Given the description of an element on the screen output the (x, y) to click on. 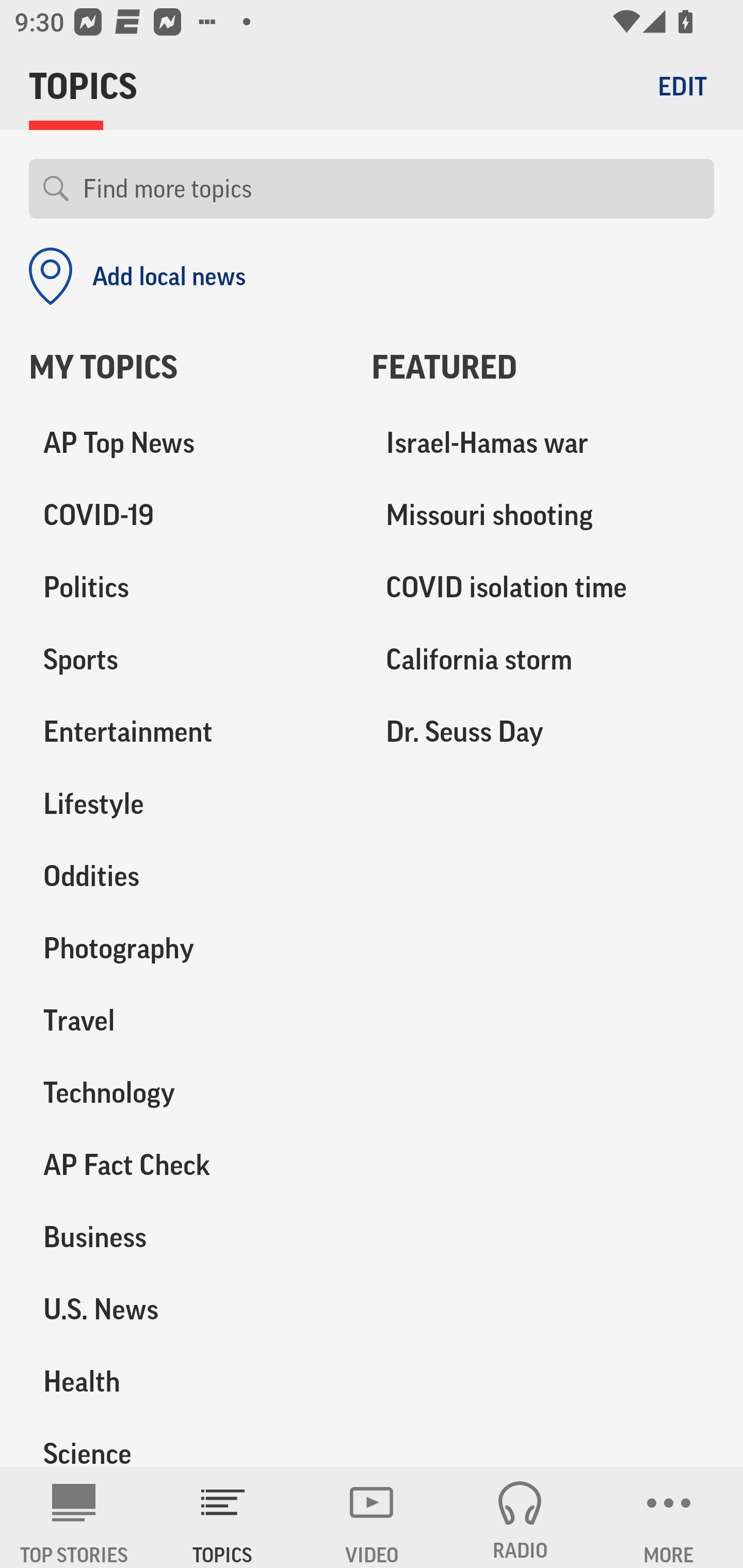
EDIT (682, 86)
Find more topics (391, 188)
Add local news (137, 276)
AP Top News (185, 443)
Israel-Hamas war (542, 443)
COVID-19 (185, 515)
Missouri shooting (542, 515)
Politics (185, 587)
COVID isolation time (542, 587)
Sports (185, 660)
California storm (542, 660)
Entertainment (185, 732)
Dr. Seuss Day (542, 732)
Lifestyle (185, 804)
Oddities (185, 876)
Photography (185, 948)
Travel (185, 1020)
Technology (185, 1092)
AP Fact Check (185, 1164)
Business (185, 1237)
U.S. News (185, 1309)
Health (185, 1381)
Science (185, 1442)
AP News TOP STORIES (74, 1517)
TOPICS (222, 1517)
VIDEO (371, 1517)
RADIO (519, 1517)
MORE (668, 1517)
